Given the description of an element on the screen output the (x, y) to click on. 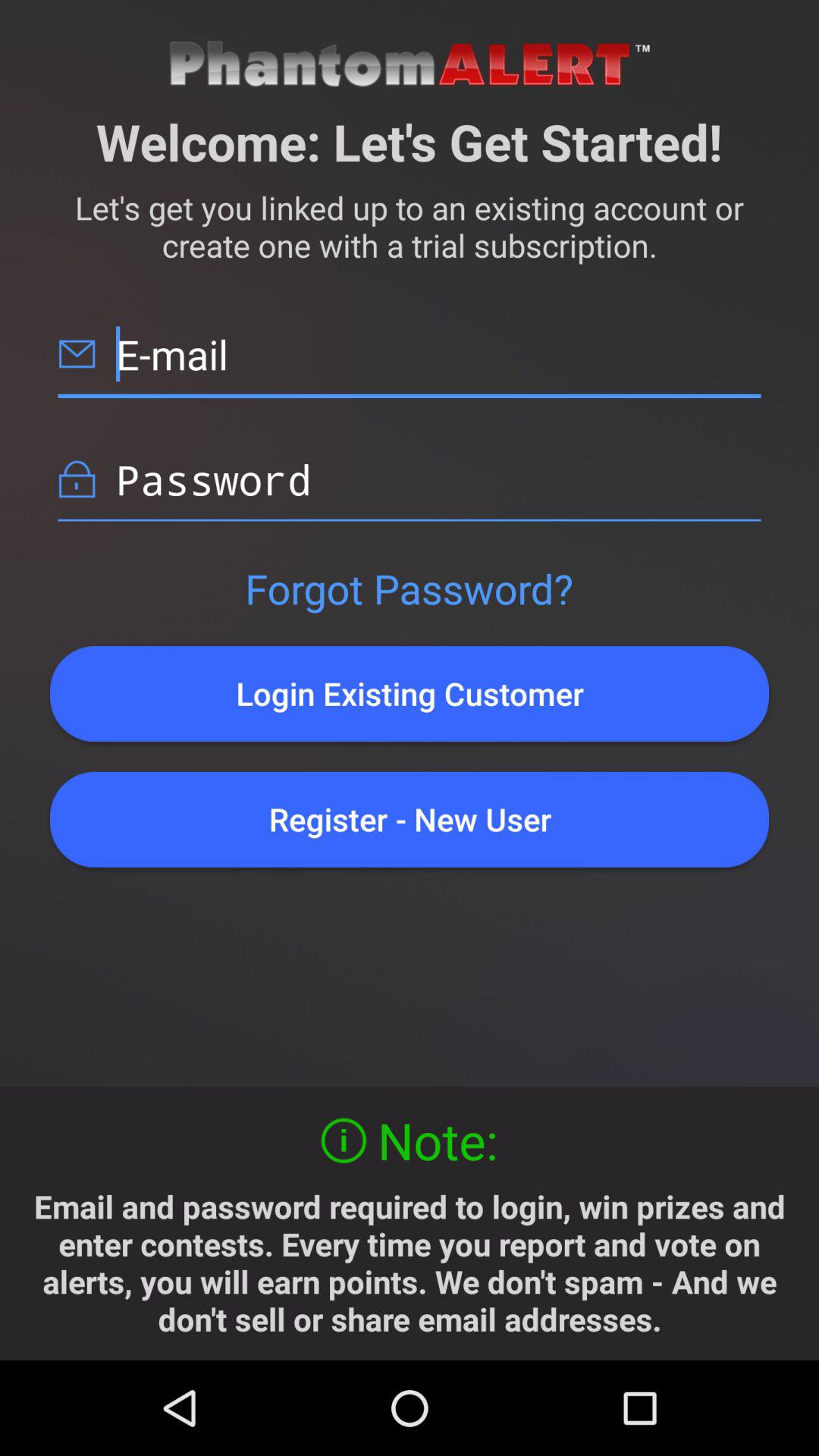
flip to forgot password? (409, 587)
